Given the description of an element on the screen output the (x, y) to click on. 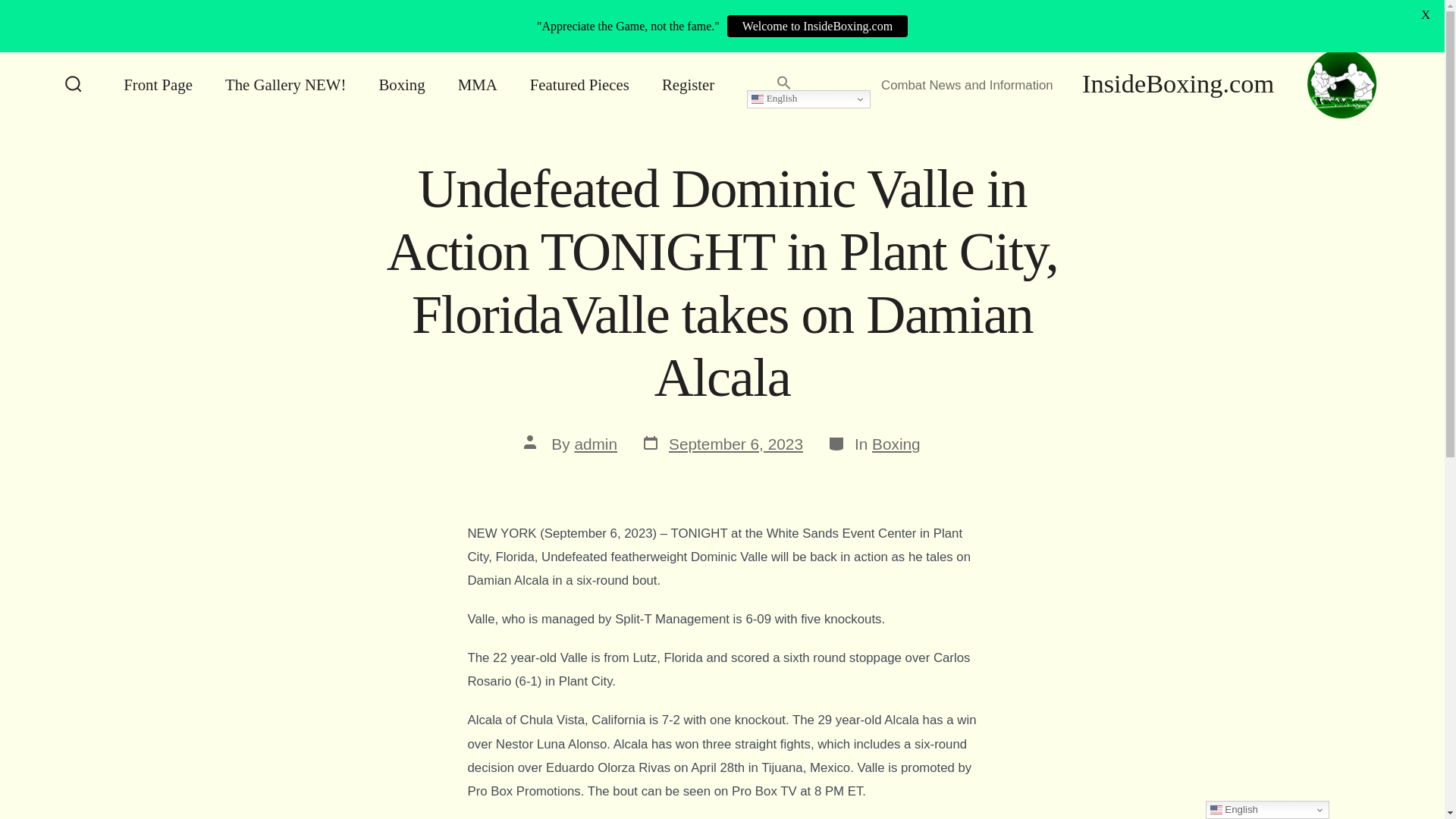
The Gallery NEW! (285, 84)
Featured Pieces (578, 84)
Boxing (401, 84)
Register (688, 84)
Front Page (157, 84)
InsideBoxing.com (1192, 84)
MMA (477, 84)
Search Toggle (73, 85)
